Given the description of an element on the screen output the (x, y) to click on. 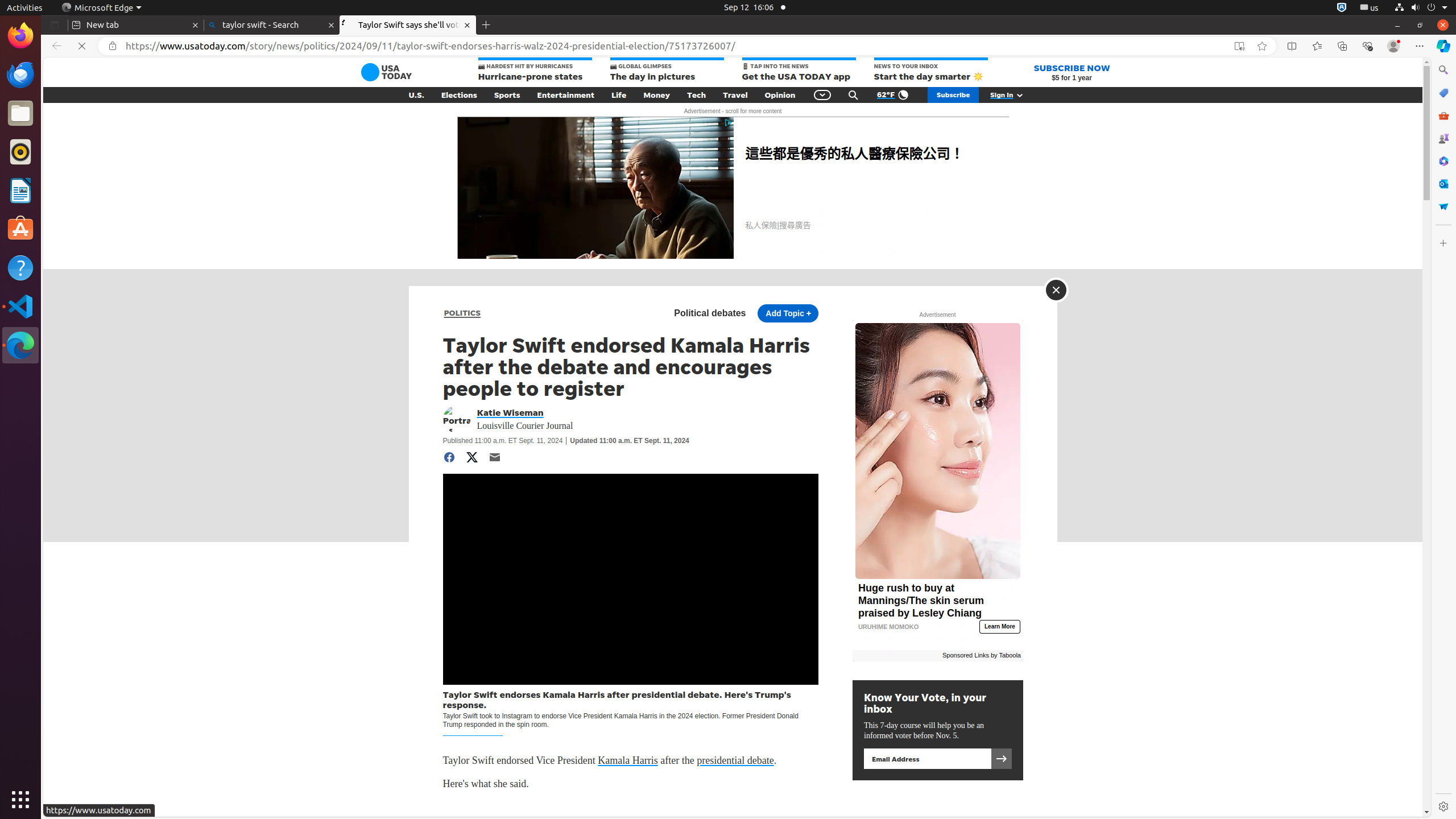
Search Element type: link (853, 94)
Ubuntu Software Element type: push-button (20, 229)
Share to Facebook Element type: link (448, 457)
Visual Studio Code Element type: push-button (20, 306)
Outlook Element type: push-button (1443, 183)
